Given the description of an element on the screen output the (x, y) to click on. 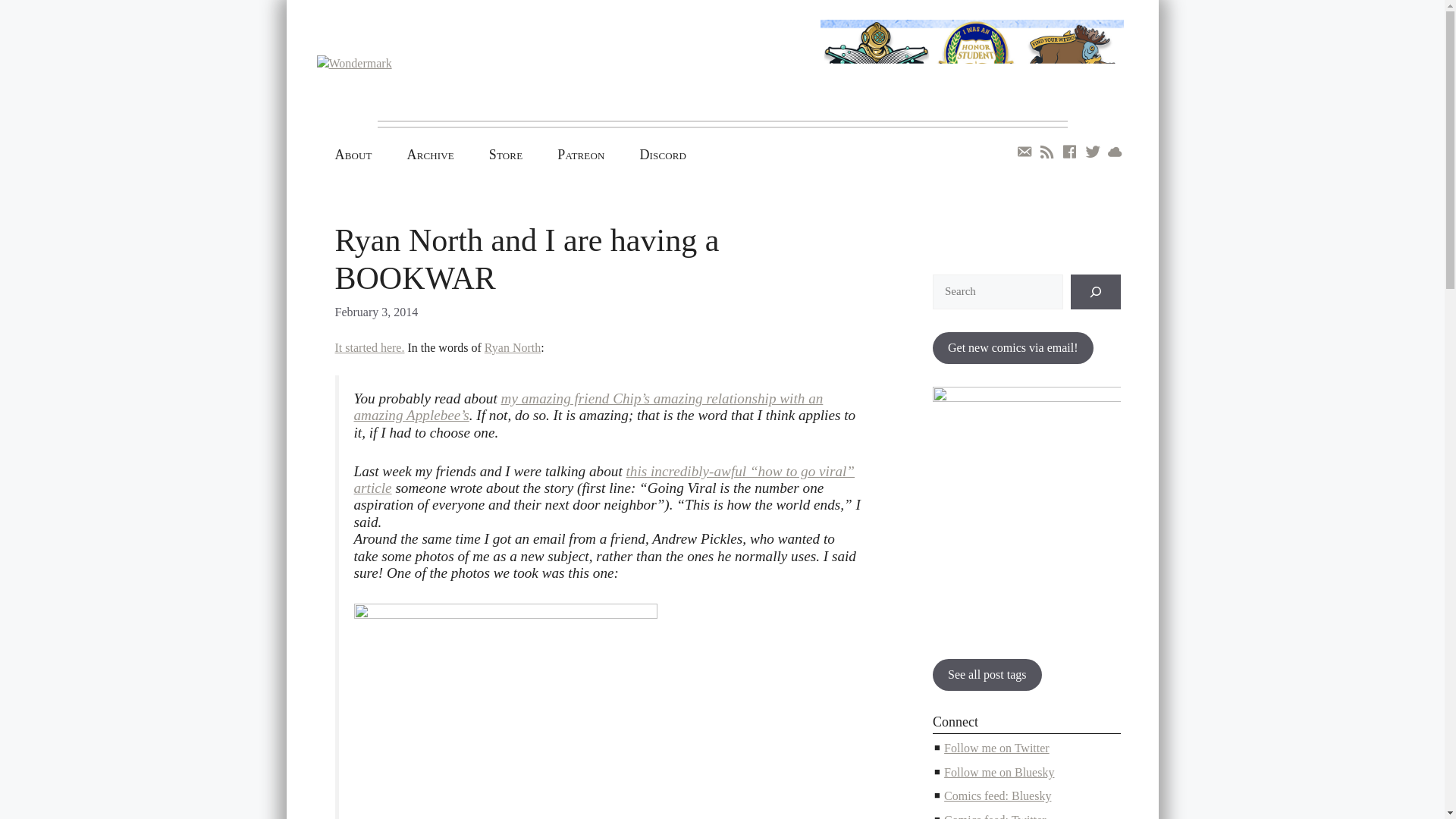
About (352, 154)
Patreon (580, 154)
See all post tags (987, 675)
Newsletter (1024, 152)
Archive (430, 154)
Store (505, 154)
RSS (1047, 152)
Get new comics via email! (1013, 347)
Twt (1092, 152)
Comics feed: Twitter (994, 816)
